Given the description of an element on the screen output the (x, y) to click on. 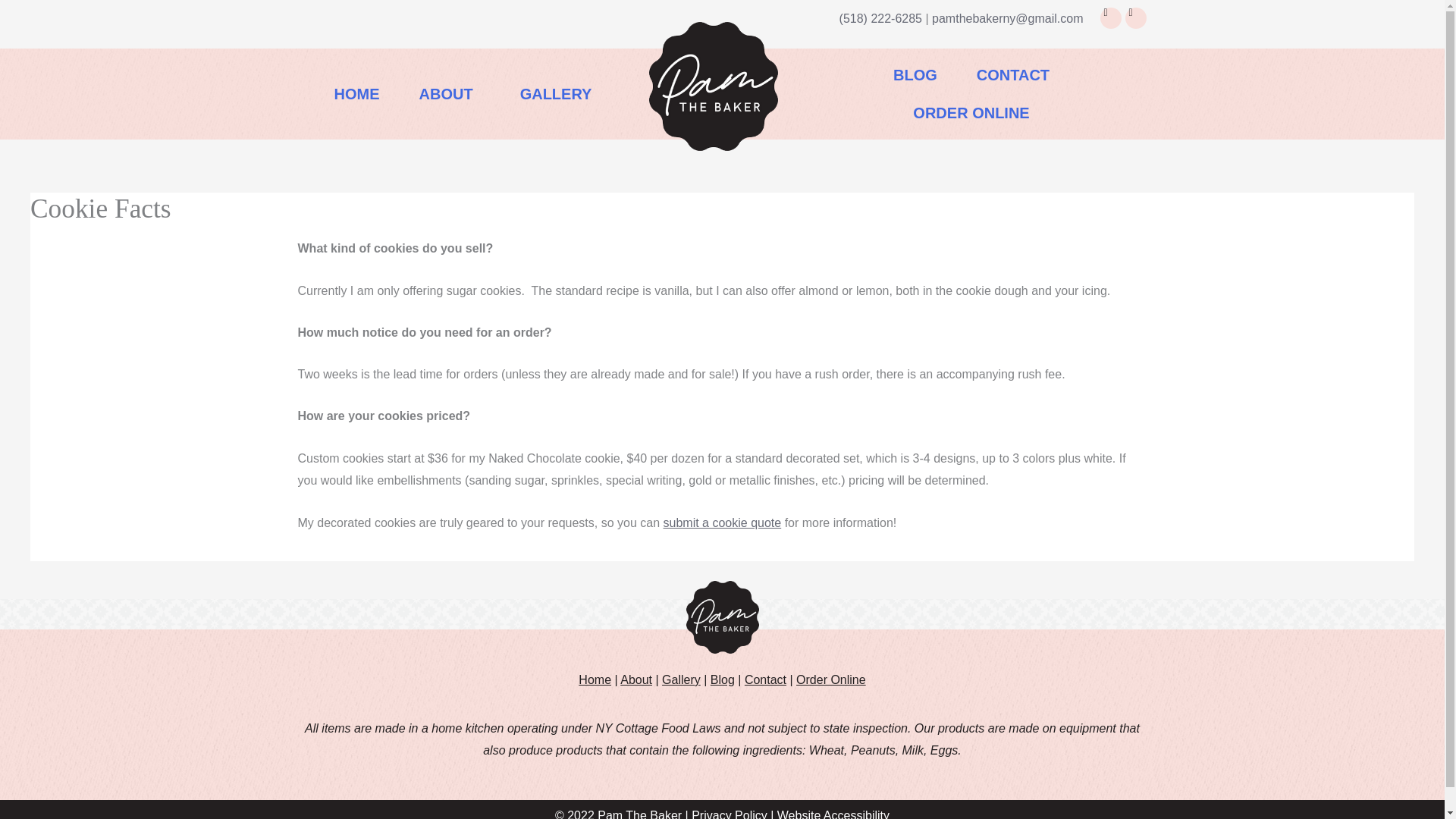
About (636, 679)
Contact (765, 679)
Gallery (681, 679)
BLOG (914, 75)
HOME (356, 94)
Order Online (831, 679)
Website Accessibility (833, 814)
CONTACT (1012, 75)
Blog (722, 679)
submit a cookie quote (722, 522)
